Given the description of an element on the screen output the (x, y) to click on. 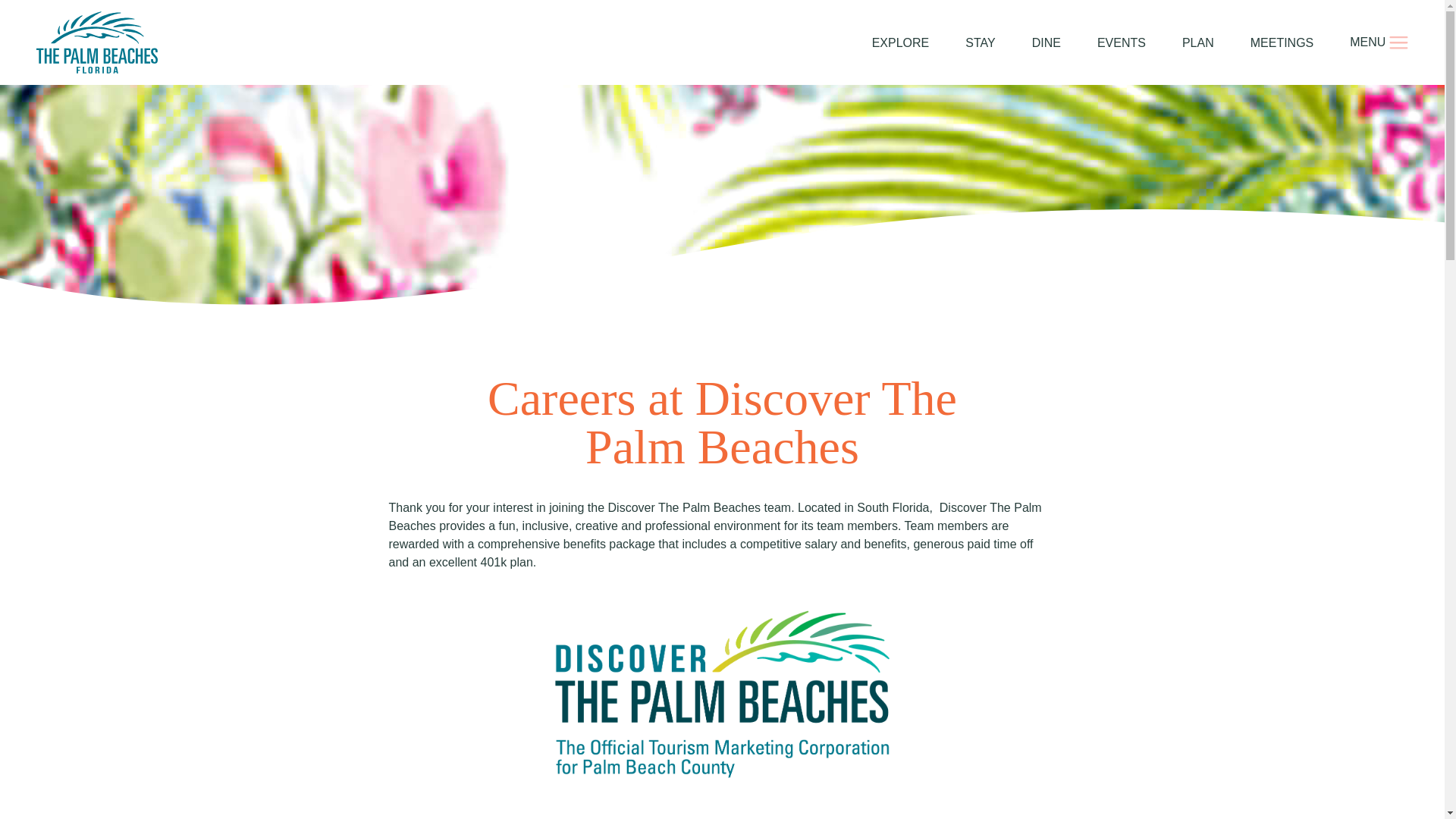
EXPLORE (901, 42)
DINE (1046, 42)
Careers at Discover The Palm Beaches (722, 695)
STAY (979, 42)
MEETINGS (1282, 42)
PLAN (1198, 42)
EVENTS (1121, 42)
